Given the description of an element on the screen output the (x, y) to click on. 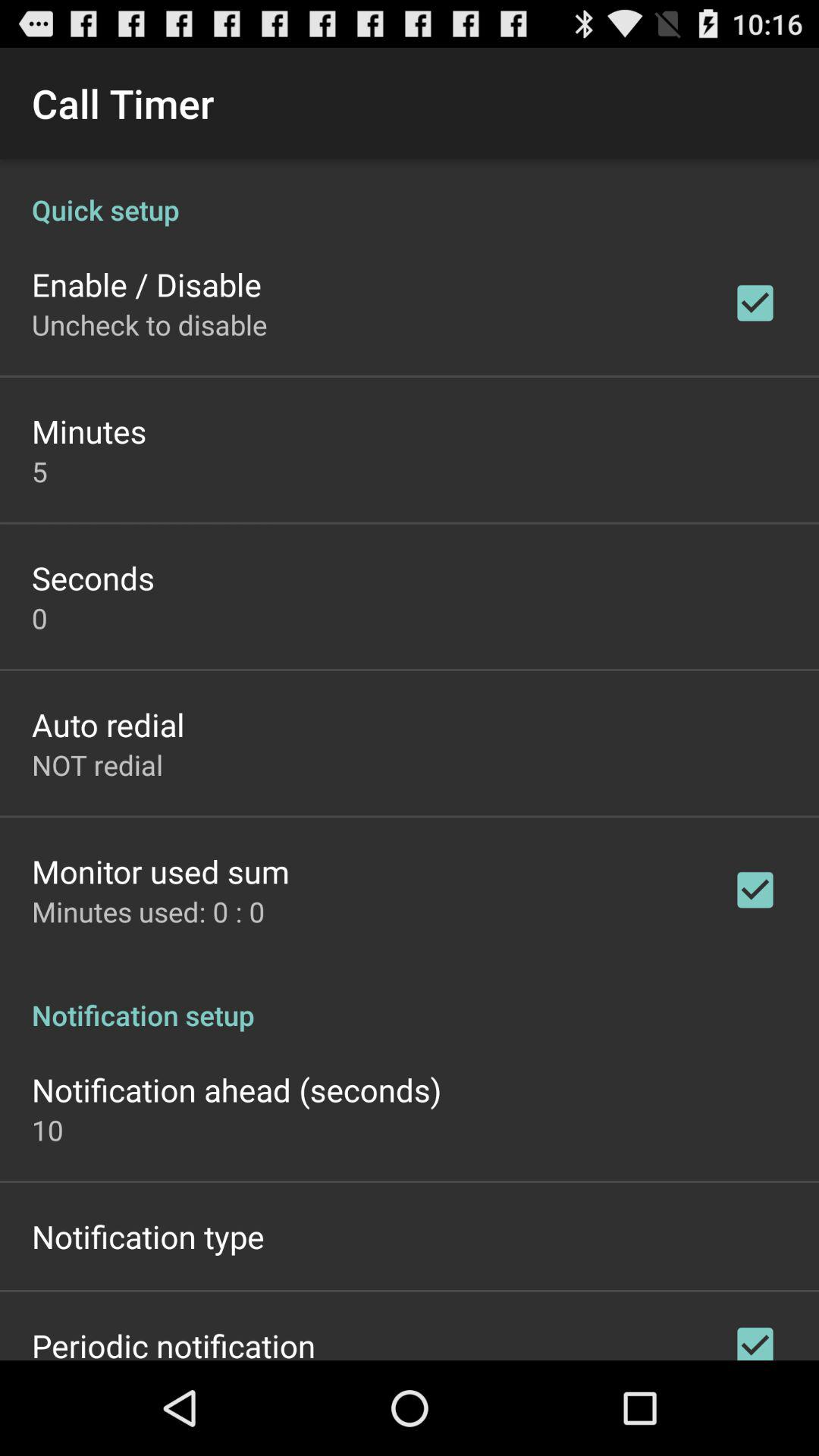
swipe to the 5 (39, 471)
